Given the description of an element on the screen output the (x, y) to click on. 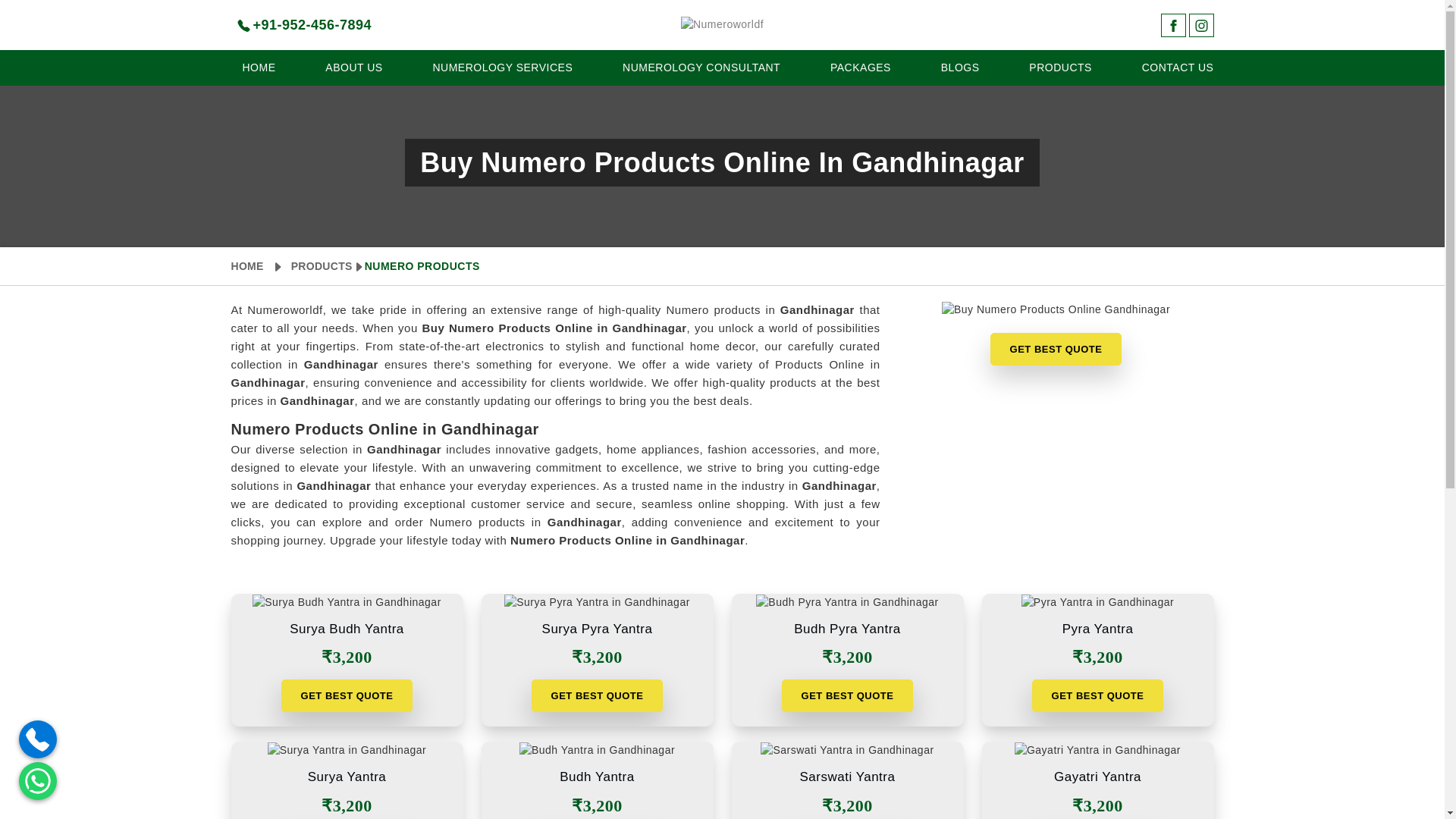
Numeroworldf (721, 24)
About Us (353, 67)
Numerology Services (501, 67)
Blogs (960, 67)
Numeroworldf (721, 24)
Numerology Consultant (701, 67)
GET BEST QUOTE (1056, 348)
CONTACT US (1172, 67)
HOME (258, 67)
Home (258, 67)
